Given the description of an element on the screen output the (x, y) to click on. 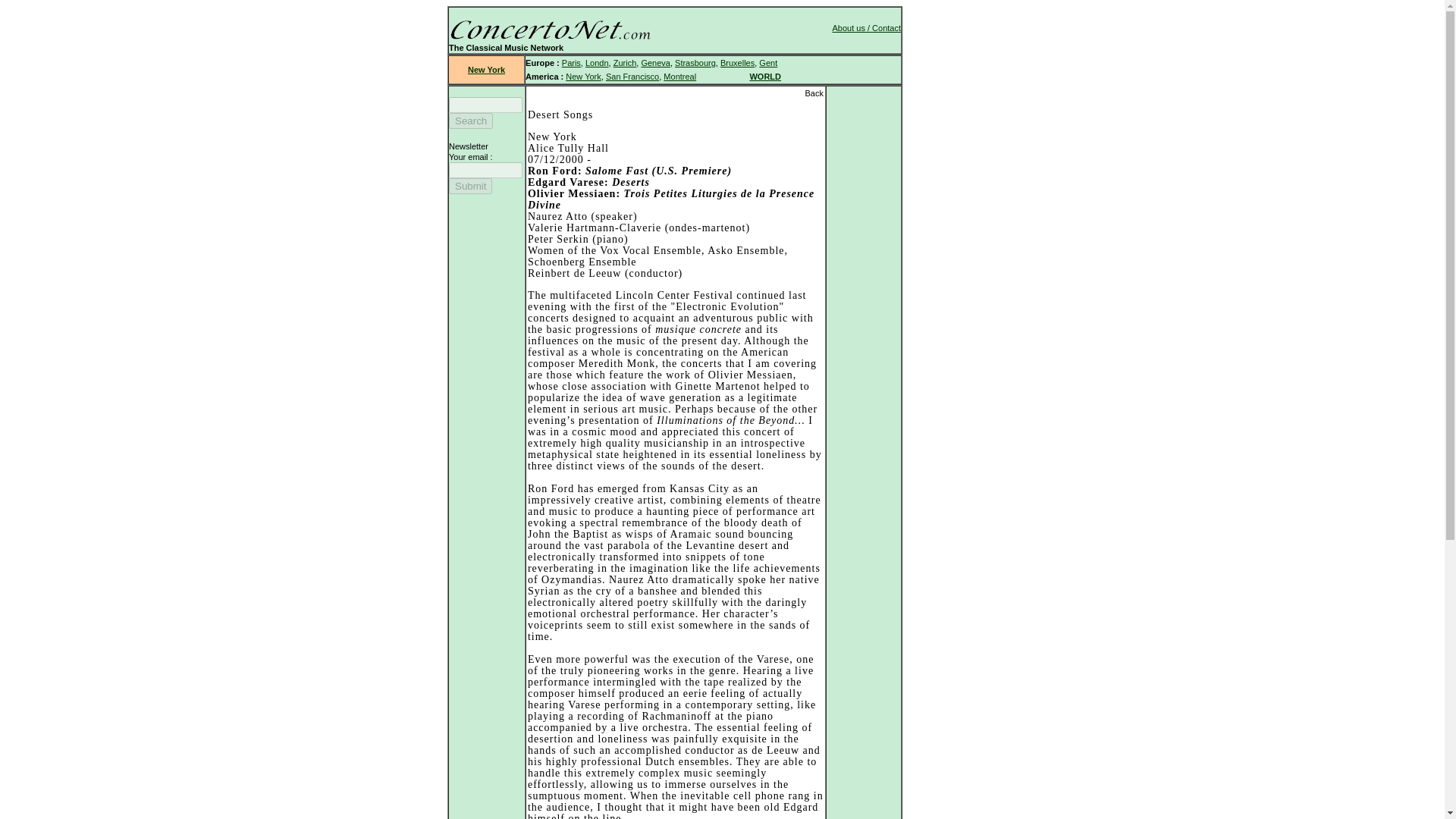
Bruxelles (737, 62)
Back (813, 92)
New York (582, 76)
Paris (571, 62)
Search (470, 120)
WORLD (764, 76)
Londn (596, 62)
Montreal (679, 76)
Submit (470, 186)
Geneva (654, 62)
